Given the description of an element on the screen output the (x, y) to click on. 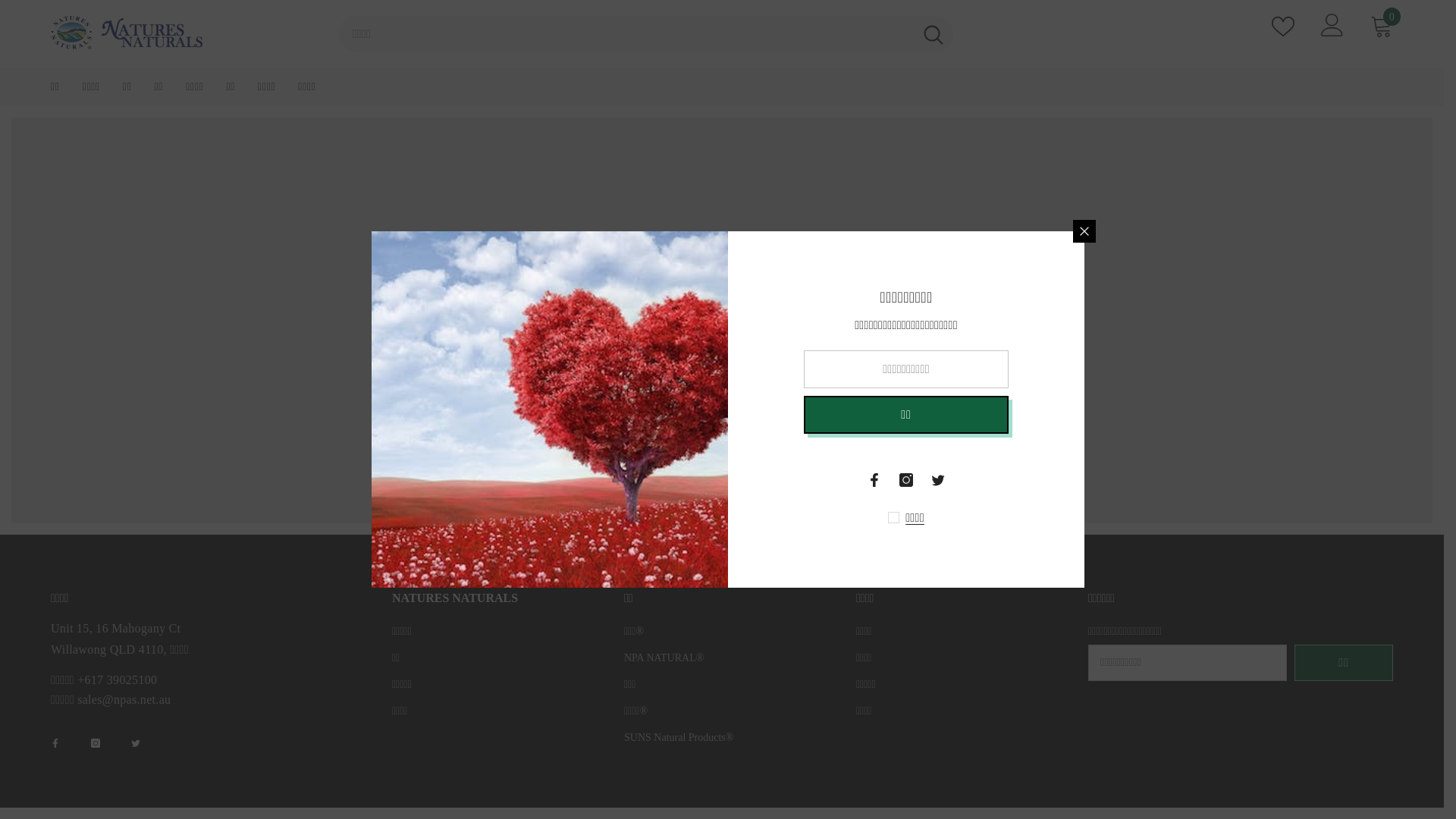
Facebook Element type: text (54, 742)
Instagram Element type: text (906, 479)
+617 39025100 Element type: text (116, 679)
Instagram Element type: text (95, 742)
Facebook Element type: text (874, 479)
Twitter Element type: text (135, 742)
Twitter Element type: text (937, 479)
sales@npas.net.au Element type: text (123, 699)
